Given the description of an element on the screen output the (x, y) to click on. 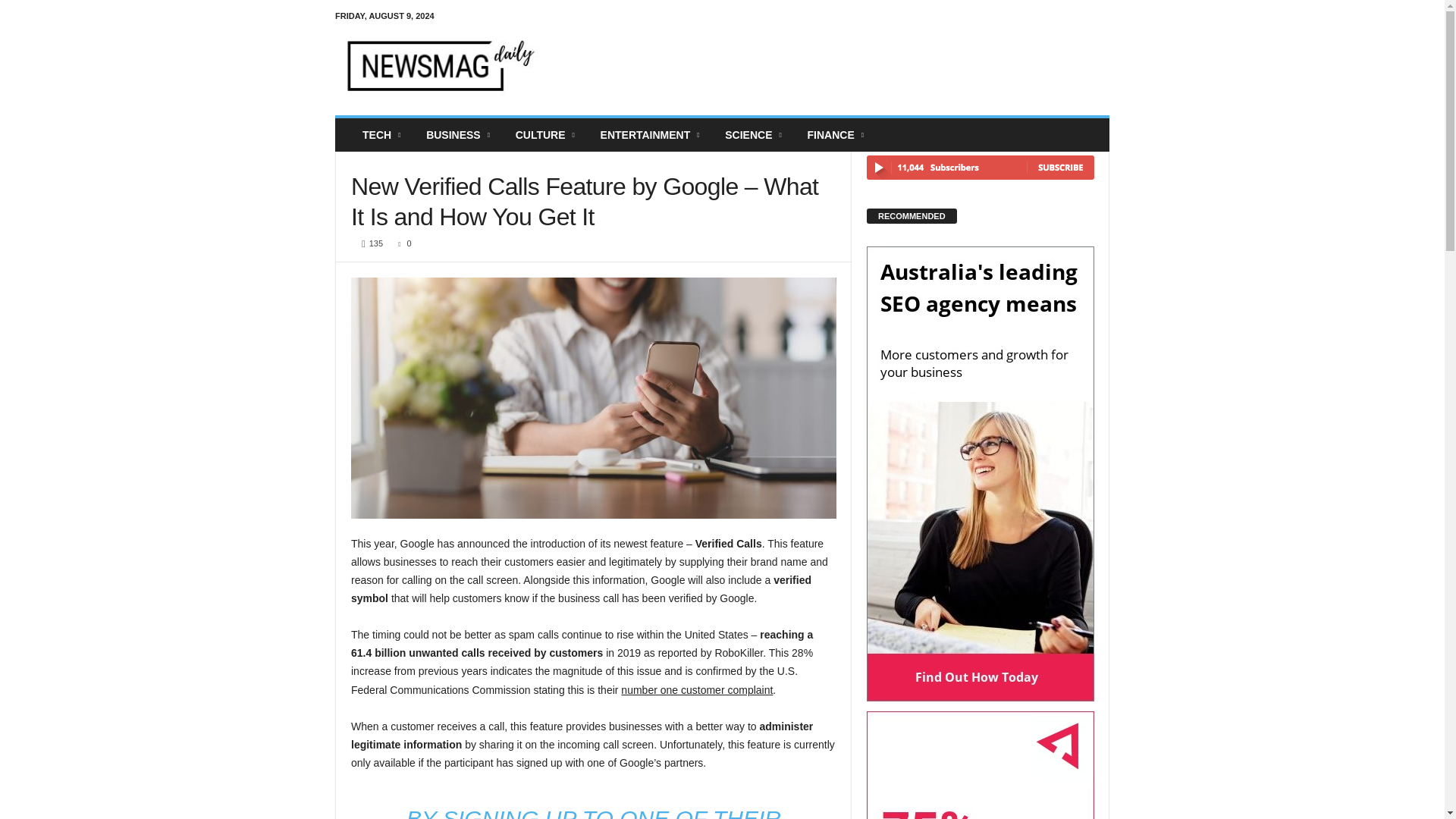
BUSINESS (458, 134)
News Mag Daily (437, 65)
TECH (382, 134)
CULTURE (546, 134)
